Given the description of an element on the screen output the (x, y) to click on. 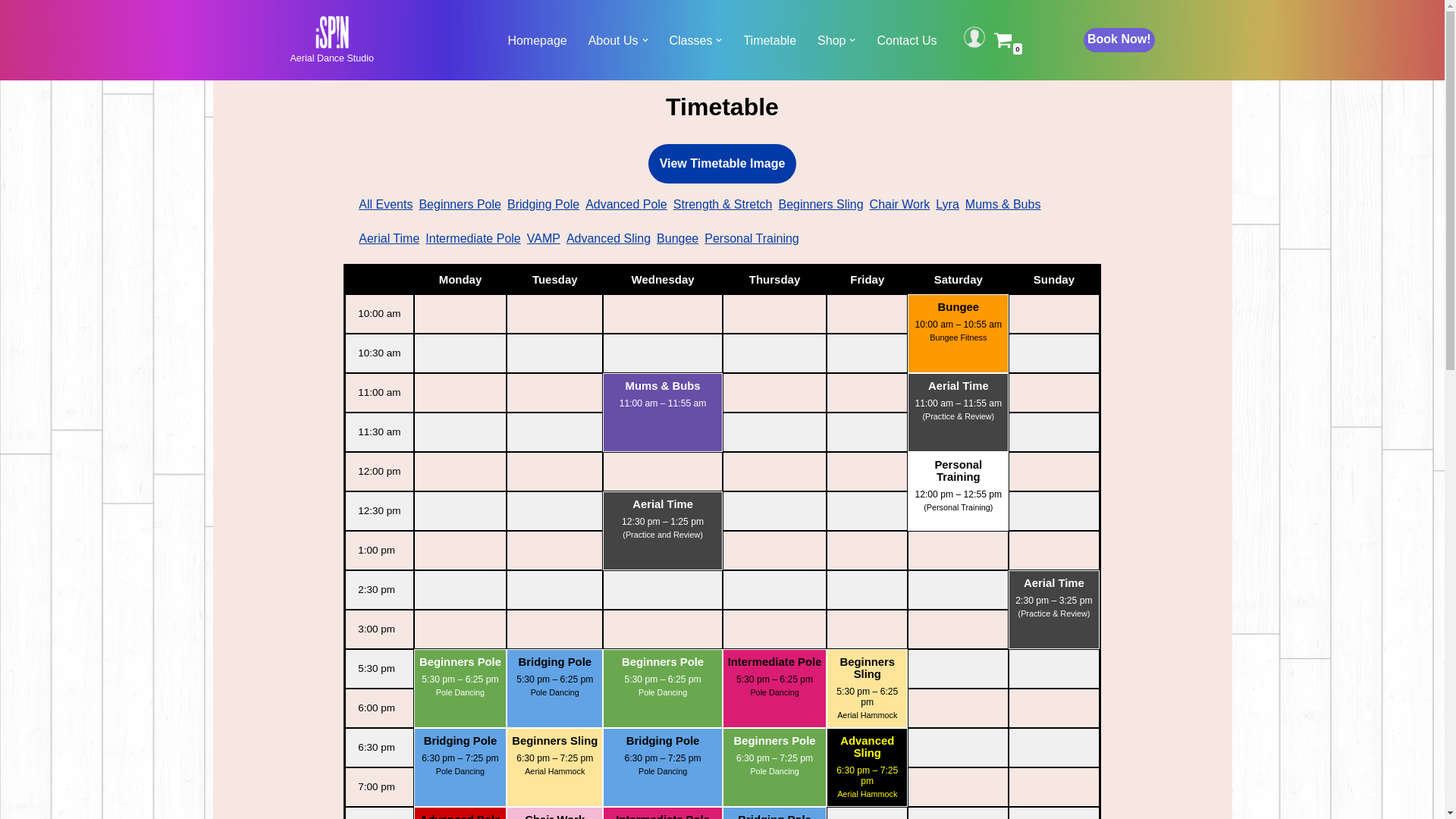
Homepage Element type: text (536, 40)
Aerial Time Element type: text (388, 238)
Skip to content Element type: text (11, 31)
Intermediate Pole Element type: text (775, 661)
VAMP Element type: text (543, 238)
Shop Element type: text (831, 40)
Bungee Element type: text (677, 238)
Beginners Pole Element type: text (460, 661)
Beginners Pole Element type: text (662, 661)
Personal Training Element type: text (957, 470)
Contact Us Element type: text (906, 40)
Bridging Pole Element type: text (662, 740)
Beginners Pole Element type: text (459, 203)
Book Now! Element type: text (1118, 40)
Mums & Bubs Element type: text (1003, 203)
Lyra Element type: text (947, 203)
Beginners Sling Element type: text (554, 740)
Bridging Pole Element type: text (554, 661)
All Events Element type: text (385, 203)
Advanced Pole Element type: text (626, 203)
Aerial Time Element type: text (1053, 583)
Advanced Sling Element type: text (608, 238)
About Us Element type: text (613, 40)
Beginners Sling Element type: text (866, 667)
Classes Element type: text (690, 40)
Bridging Pole Element type: text (459, 740)
0 Element type: text (1002, 39)
Bridging Pole Element type: text (543, 203)
Bungee Element type: text (958, 307)
Timetable Element type: text (769, 40)
Beginners Sling Element type: text (820, 203)
Chair Work Element type: text (899, 203)
Personal Training Element type: text (751, 238)
Beginners Pole Element type: text (774, 740)
View Timetable Image Element type: text (722, 163)
Intermediate Pole Element type: text (472, 238)
Mums & Bubs Element type: text (662, 385)
Aerial Time Element type: text (662, 504)
Advanced Sling Element type: text (866, 746)
Strength & Stretch Element type: text (722, 203)
Aerial Dance Studio Element type: text (331, 39)
Aerial Time Element type: text (958, 385)
